Given the description of an element on the screen output the (x, y) to click on. 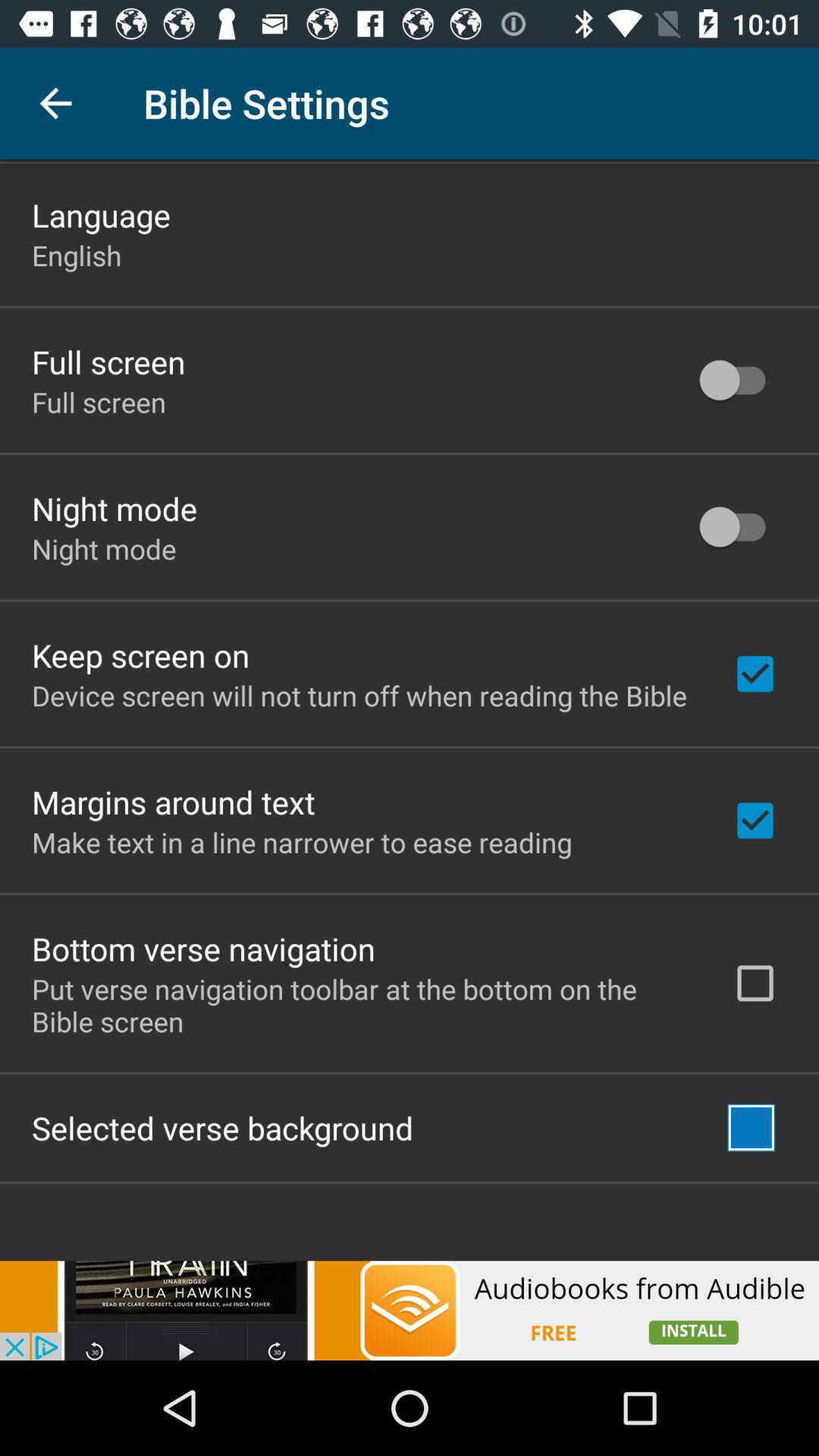
click to visit advertiser (409, 1310)
